Given the description of an element on the screen output the (x, y) to click on. 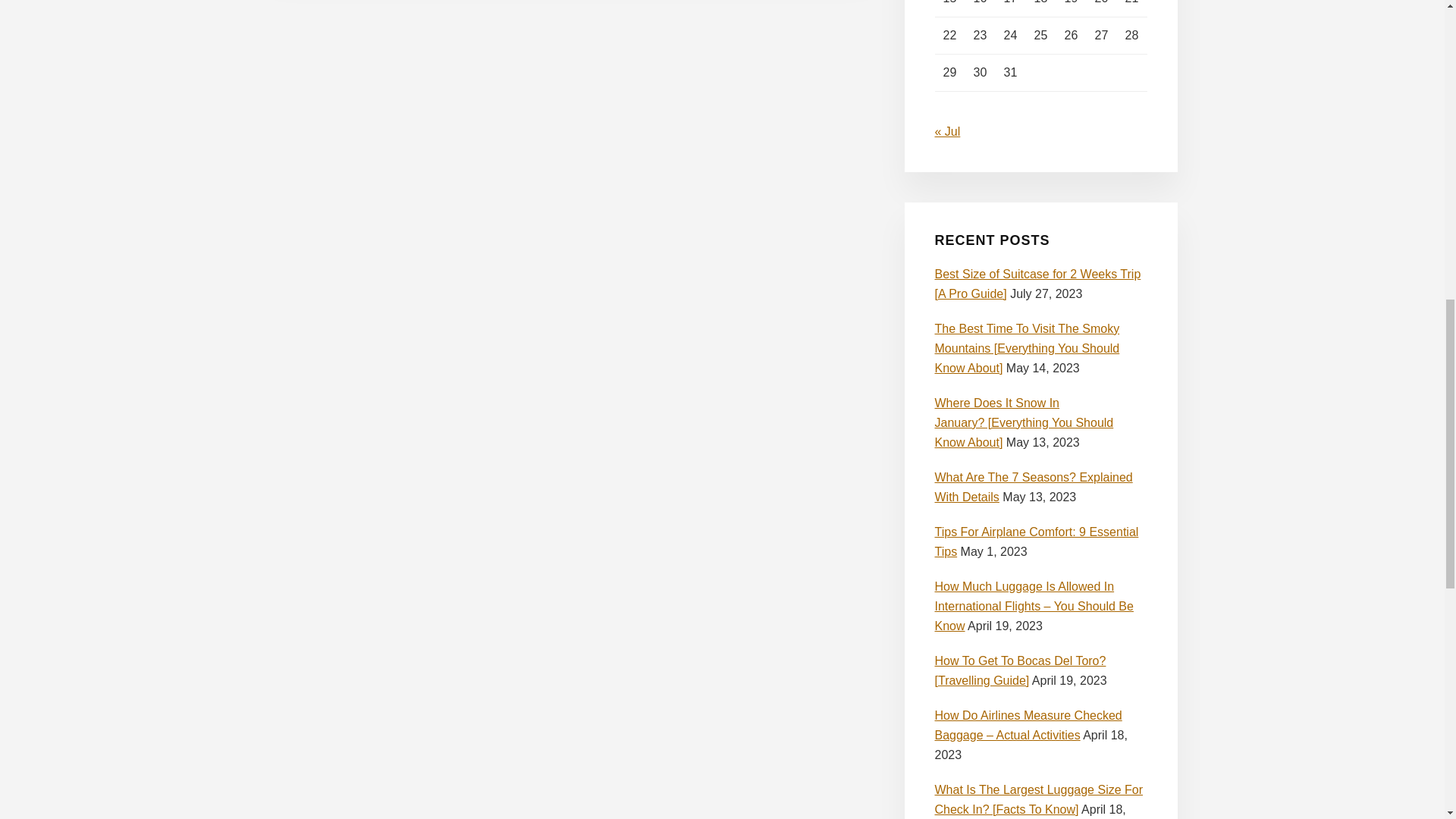
Tips For Airplane Comfort: 9 Essential Tips (1036, 541)
What Are The 7 Seasons? Explained With Details (1033, 486)
